Given the description of an element on the screen output the (x, y) to click on. 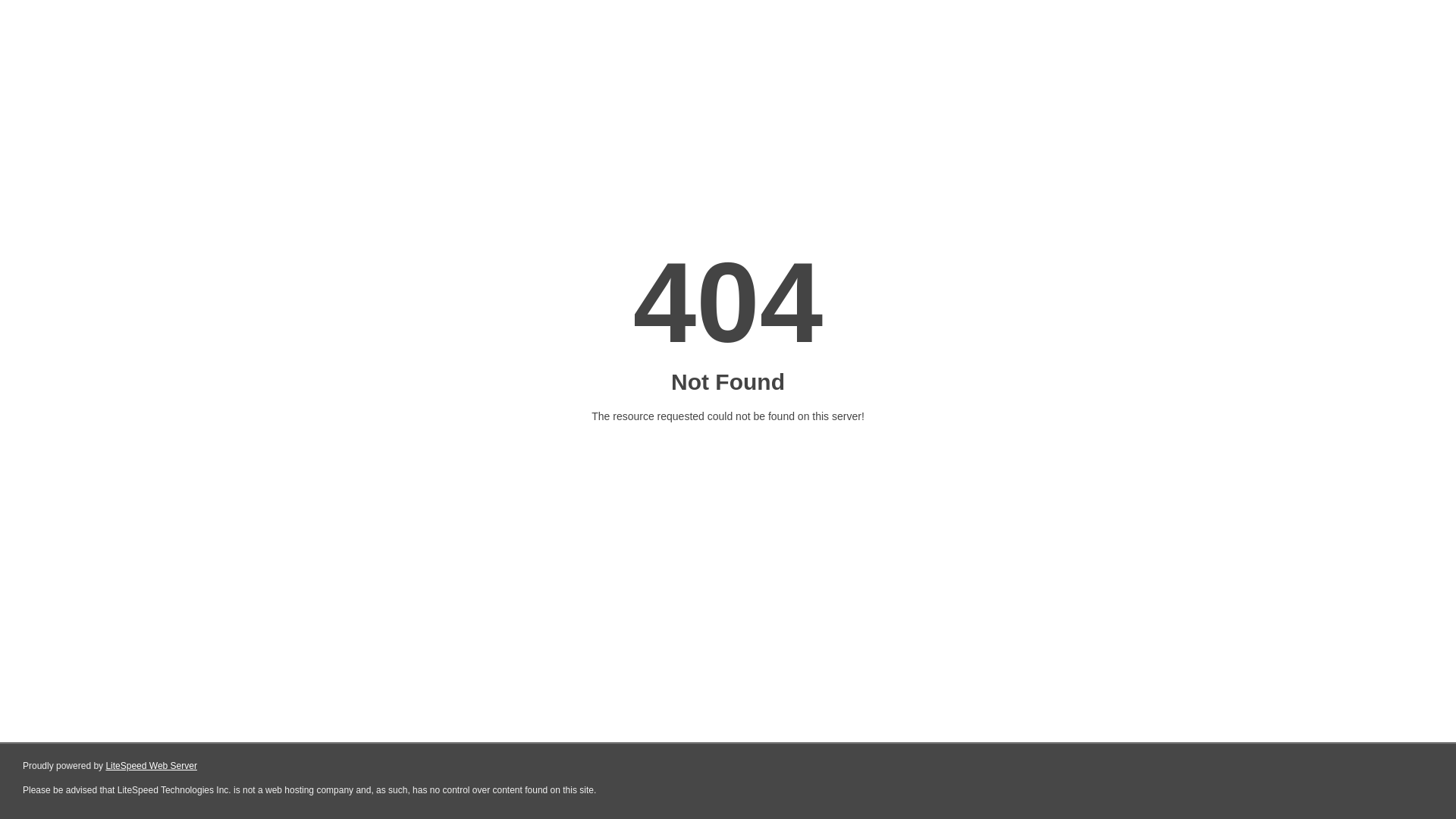
LiteSpeed Web Server Element type: text (151, 765)
